Given the description of an element on the screen output the (x, y) to click on. 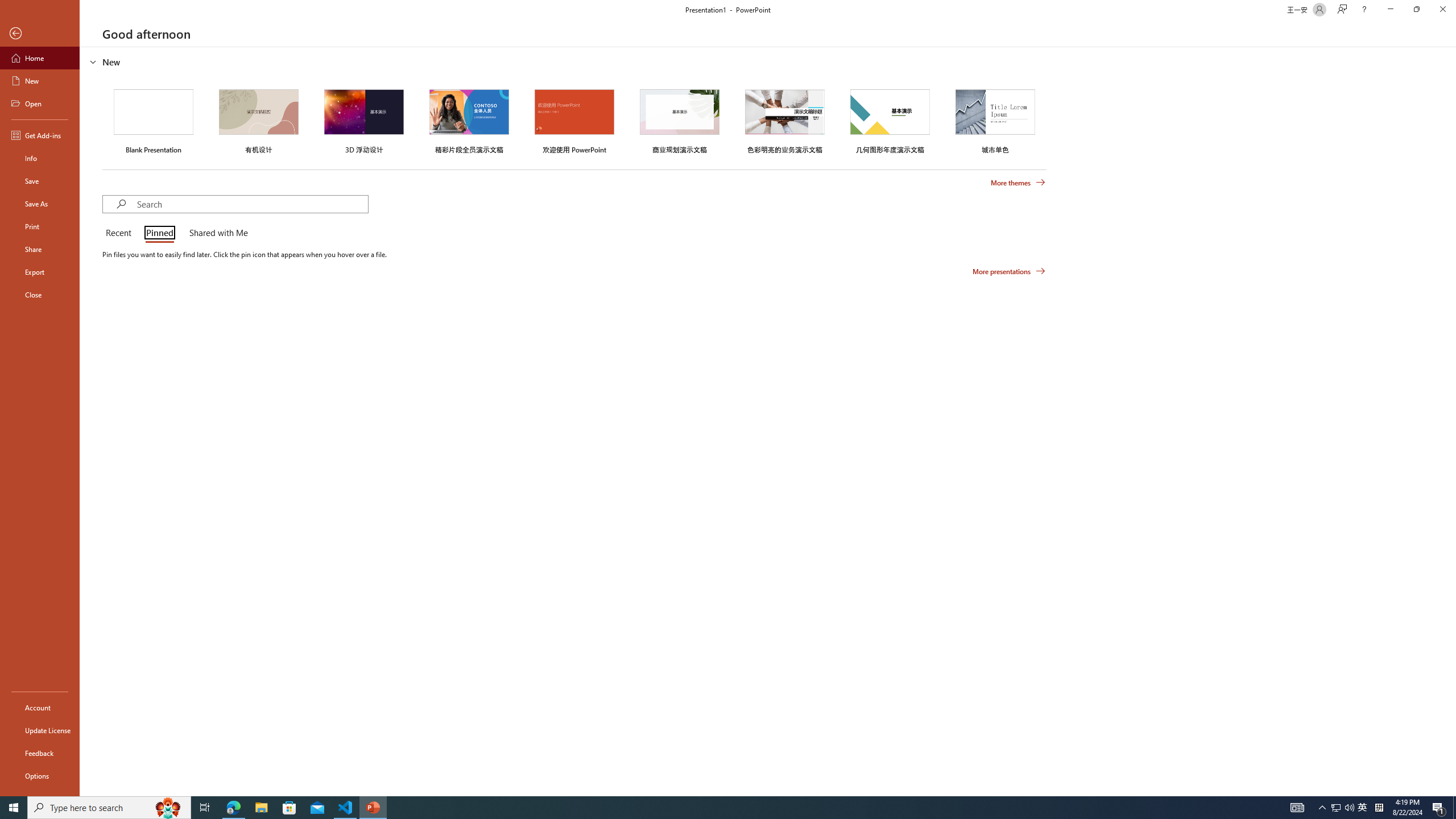
Back (40, 33)
Print (40, 225)
Info (40, 157)
New (40, 80)
Export (40, 271)
Update License (40, 730)
